Given the description of an element on the screen output the (x, y) to click on. 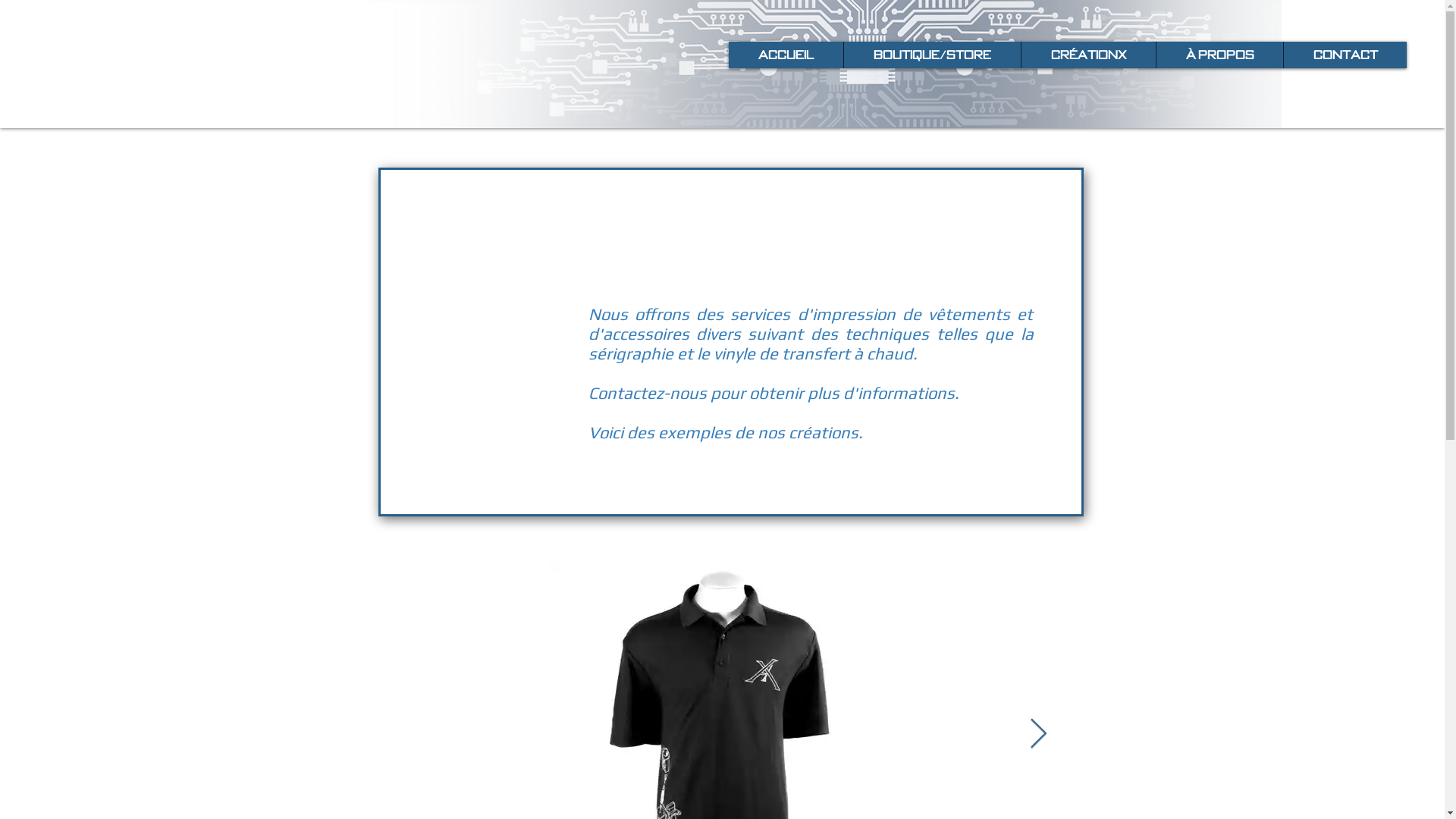
ACCUEIL Element type: text (785, 54)
CONTACT Element type: text (1344, 54)
BOUTIQUE/STORE Element type: text (931, 54)
